Given the description of an element on the screen output the (x, y) to click on. 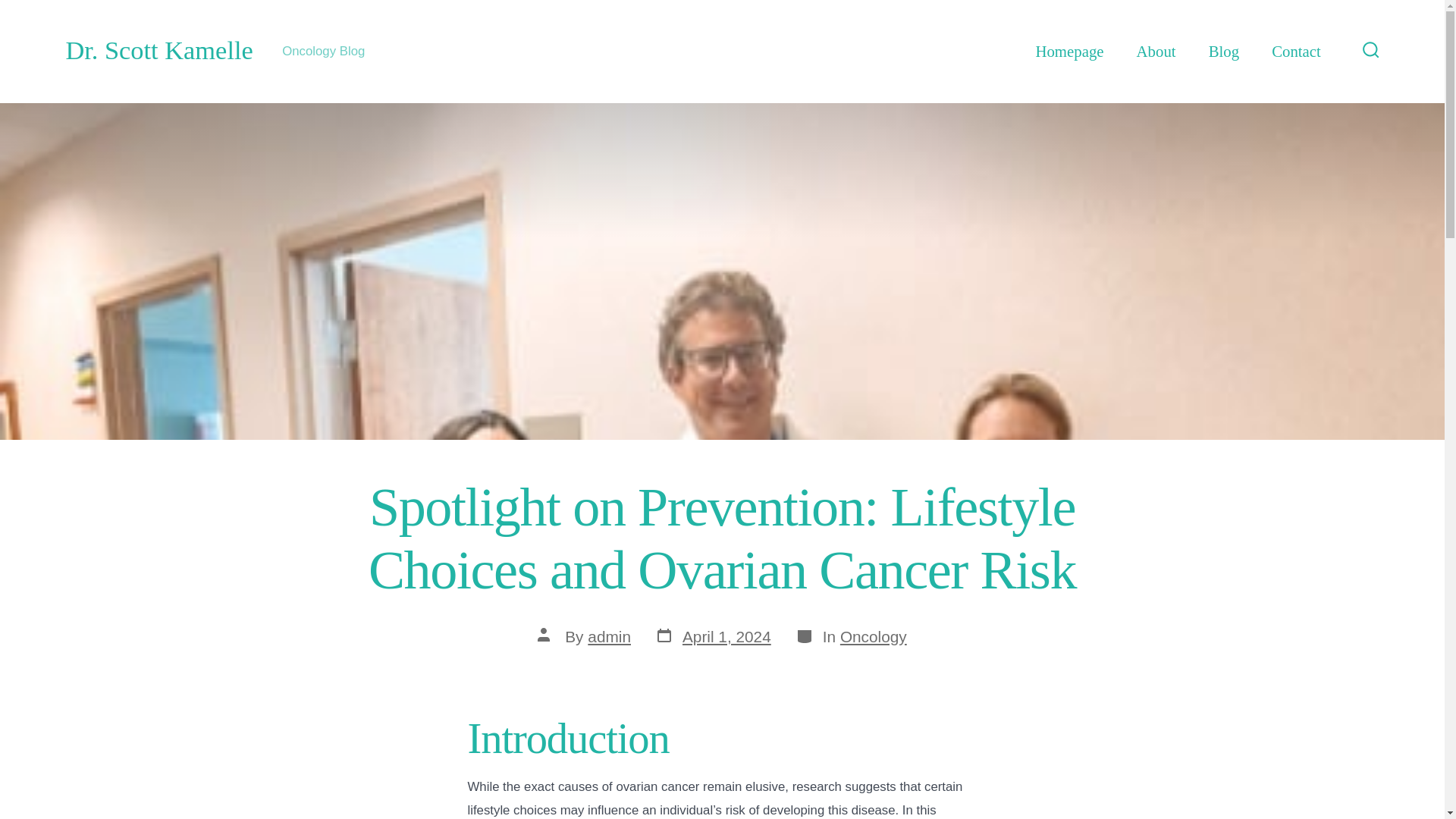
Contact (1295, 51)
Blog (1223, 51)
Homepage (1069, 51)
Oncology (873, 636)
Dr. Scott Kamelle (158, 51)
About (1156, 51)
admin (609, 636)
Search Toggle (1371, 50)
